Given the description of an element on the screen output the (x, y) to click on. 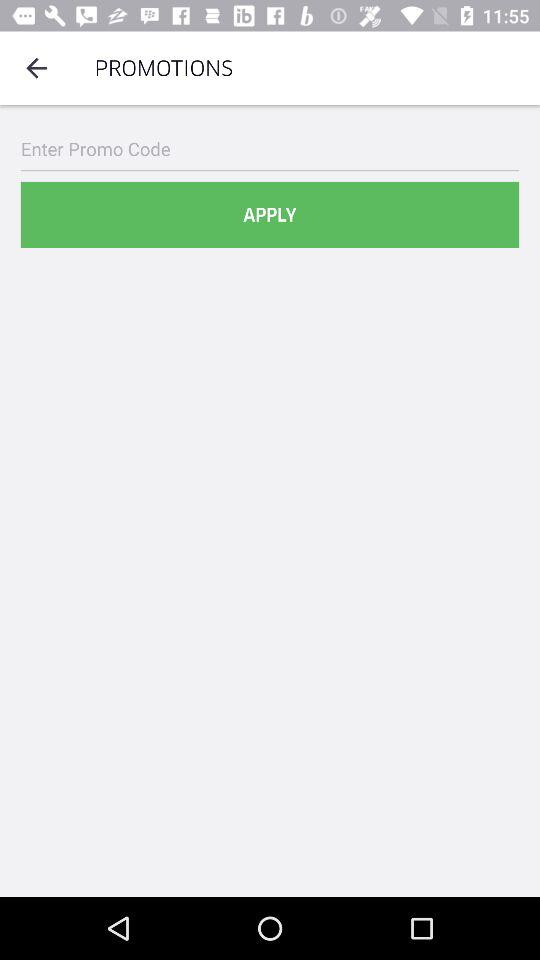
turn on the apply icon (270, 214)
